Given the description of an element on the screen output the (x, y) to click on. 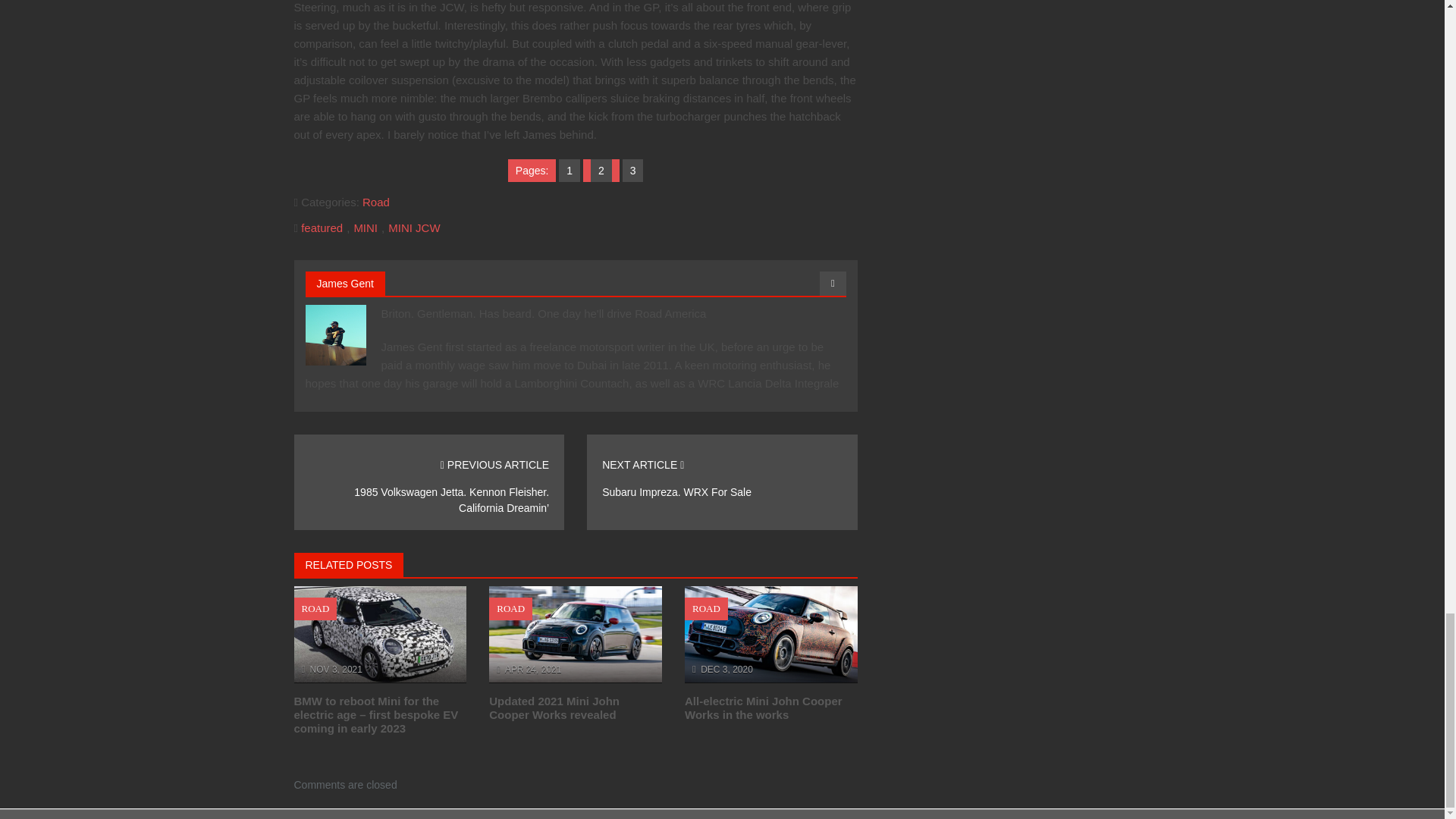
featured (321, 227)
Saturday, April 24, 2021, 11:41 am (533, 669)
All-electric Mini John Cooper Works in the works (763, 707)
MINI (365, 227)
Road (376, 201)
1 (569, 170)
3 (633, 170)
Subaru Impreza. WRX For Sale (676, 491)
MINI JCW (413, 227)
Thursday, December 3, 2020, 3:10 pm (726, 669)
James Gent (345, 283)
Updated 2021 Mini John Cooper Works revealed (554, 707)
Wednesday, November 3, 2021, 12:43 pm (336, 669)
